Given the description of an element on the screen output the (x, y) to click on. 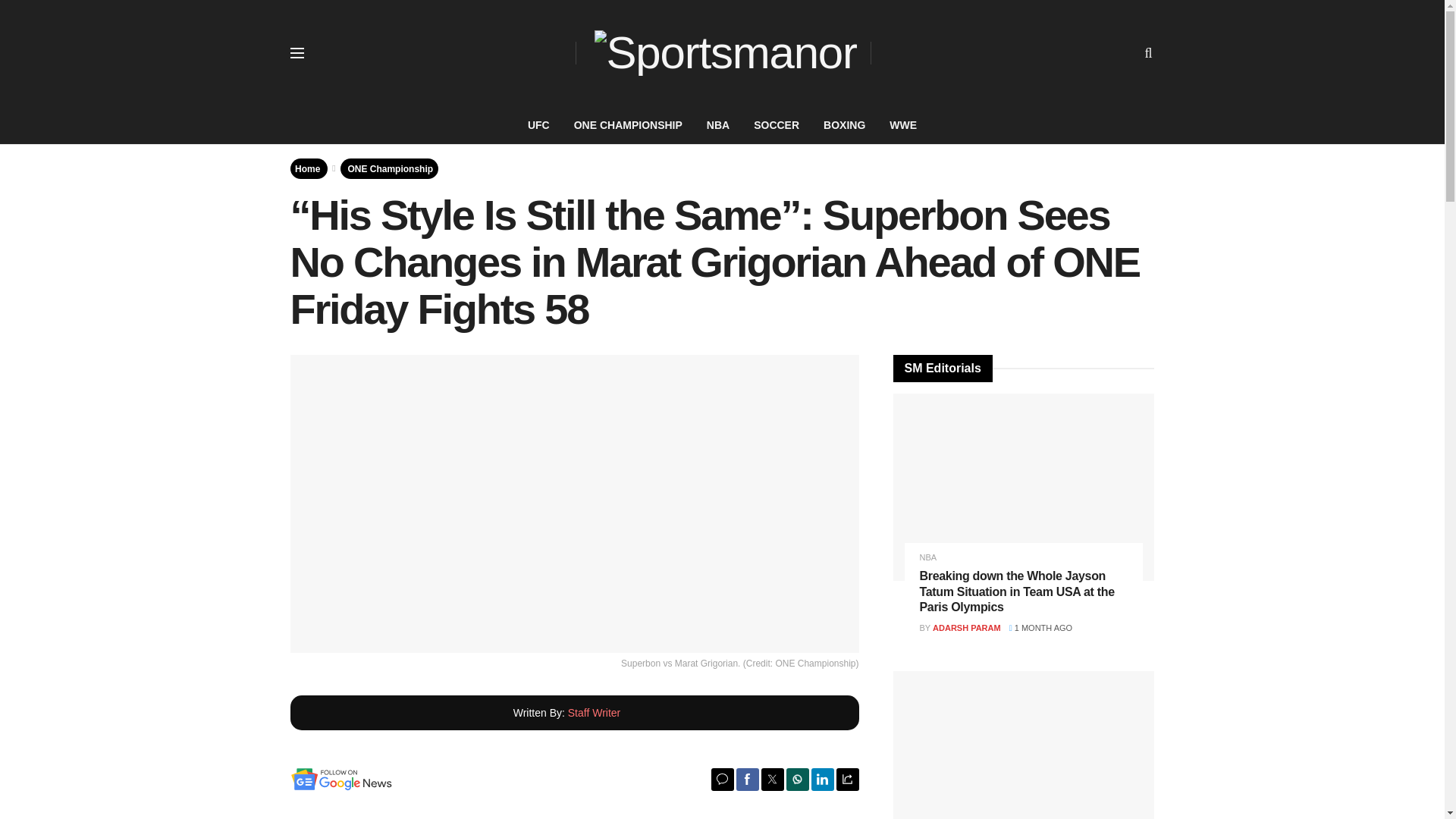
UFC (538, 125)
Staff Writer (594, 712)
WWE (902, 125)
ONE CHAMPIONSHIP (628, 125)
SOCCER (775, 125)
BOXING (843, 125)
Home (307, 167)
NBA (717, 125)
